Given the description of an element on the screen output the (x, y) to click on. 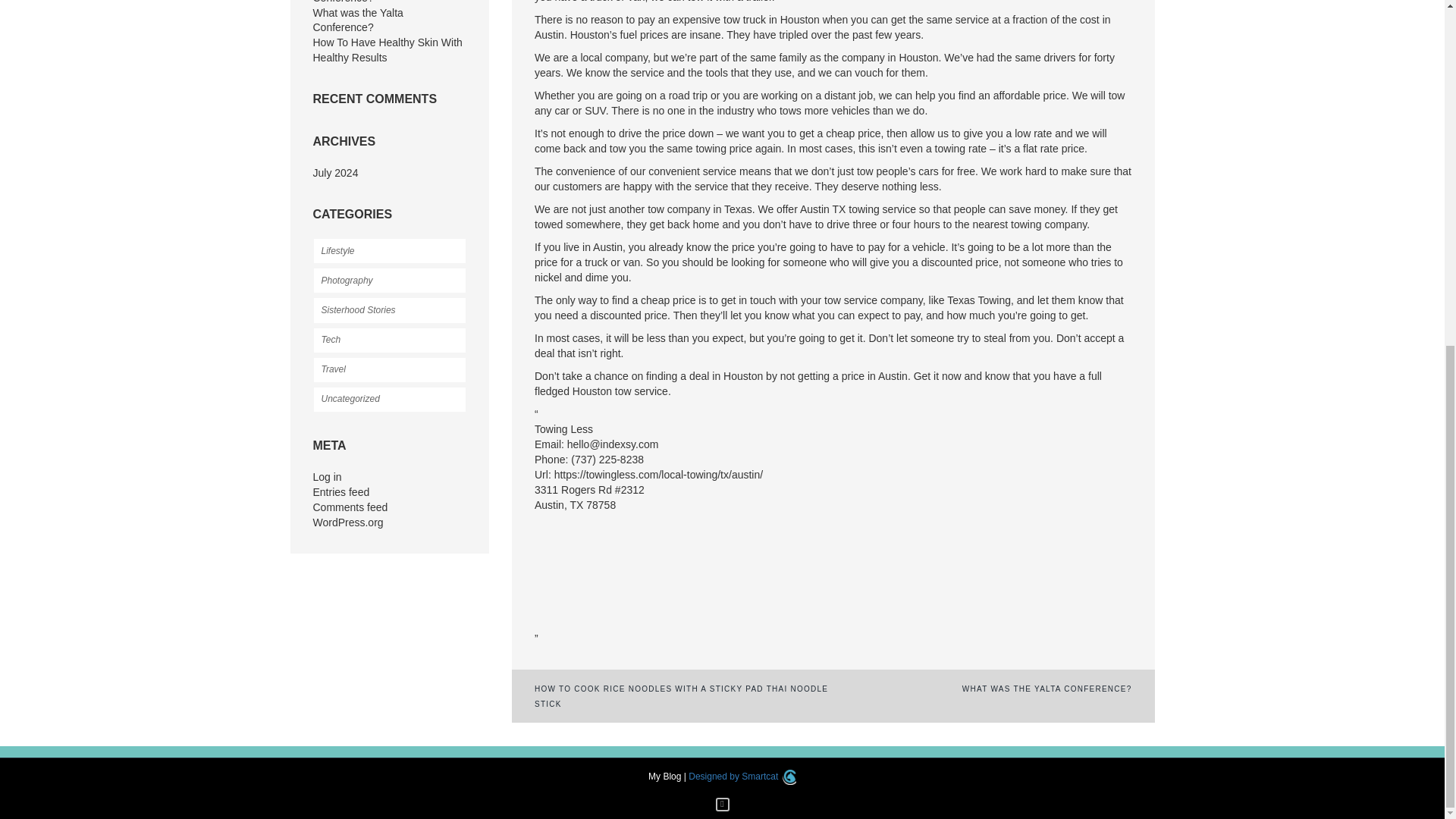
When was the Berlin Conference? (361, 2)
Log in (326, 476)
Lifestyle (389, 250)
Photography (389, 280)
Entries feed (341, 491)
What was the Yalta Conference? (358, 19)
Sisterhood Stories (389, 309)
How To Have Healthy Skin With Healthy Results (387, 49)
July 2024 (335, 173)
WordPress.org (347, 522)
